Given the description of an element on the screen output the (x, y) to click on. 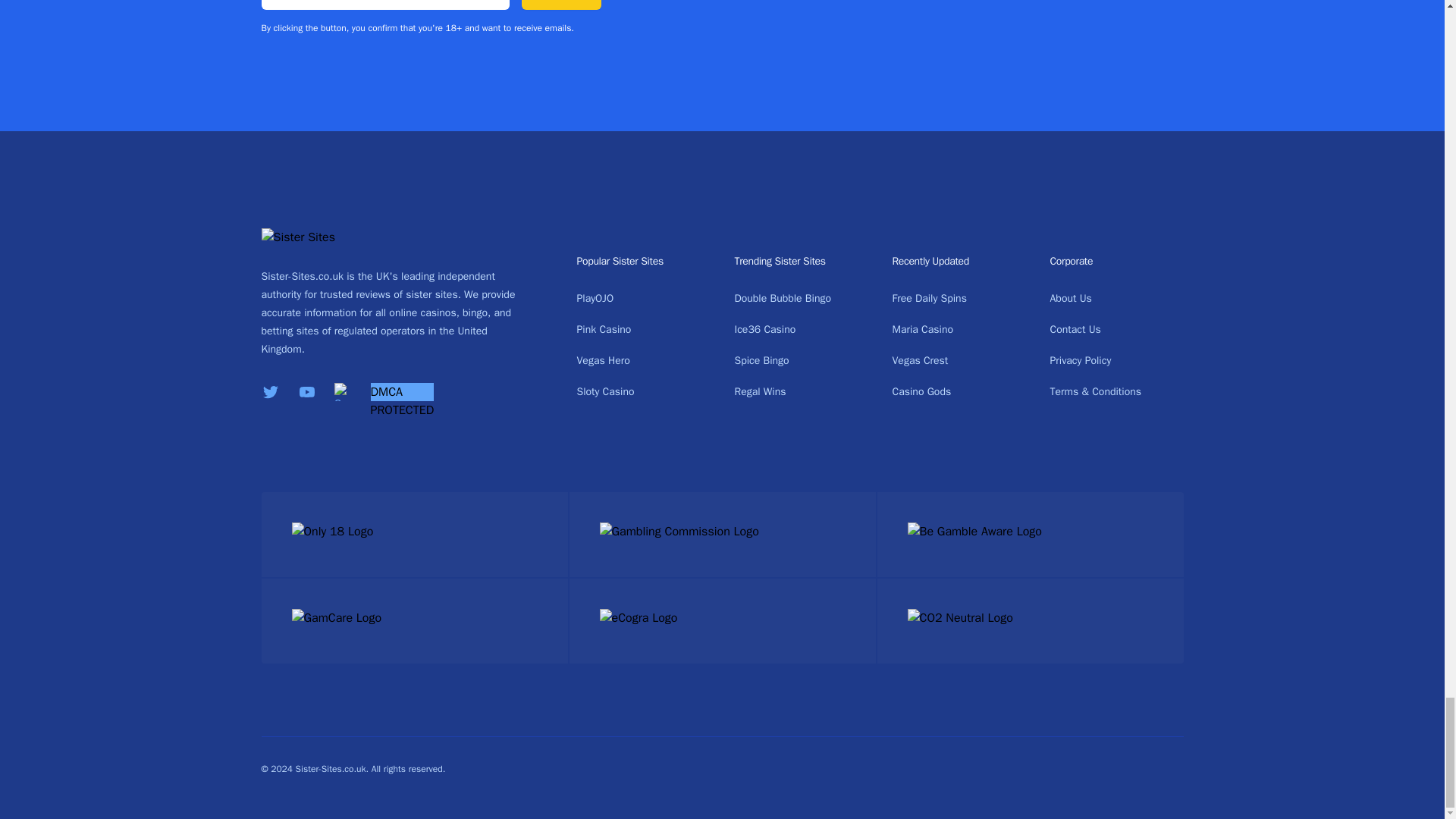
DMCA (401, 409)
Sister Sites Logo (309, 235)
DMCA (386, 391)
